Given the description of an element on the screen output the (x, y) to click on. 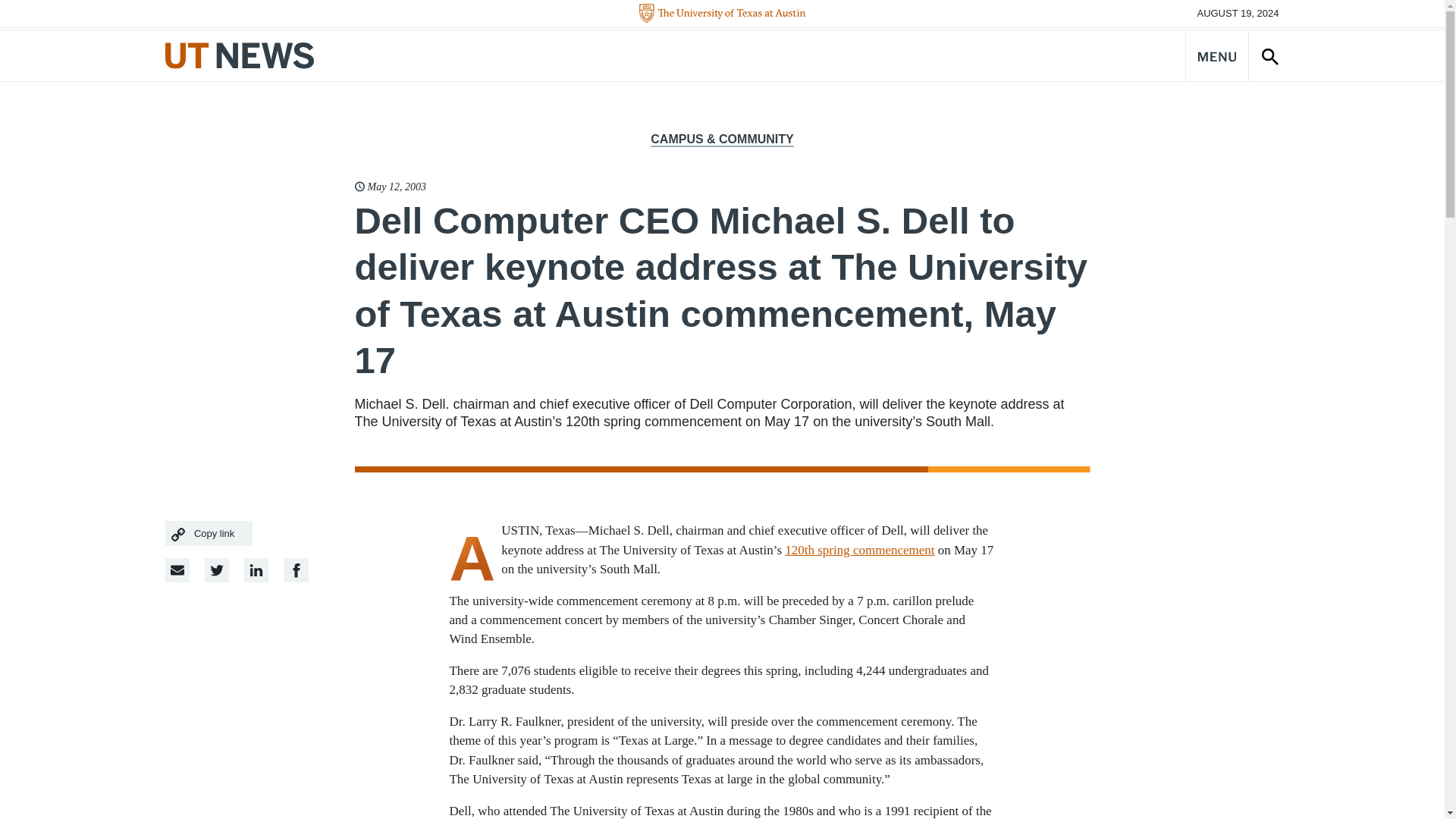
Twitter Share Link (216, 569)
Facebook Share Link (255, 569)
The University of Texas at Austin (722, 13)
120th spring commencement (859, 549)
Navigation (1216, 55)
UT News (239, 55)
LinkedIn Share Link (295, 569)
Email Share Link (177, 569)
Copy link (209, 533)
